Given the description of an element on the screen output the (x, y) to click on. 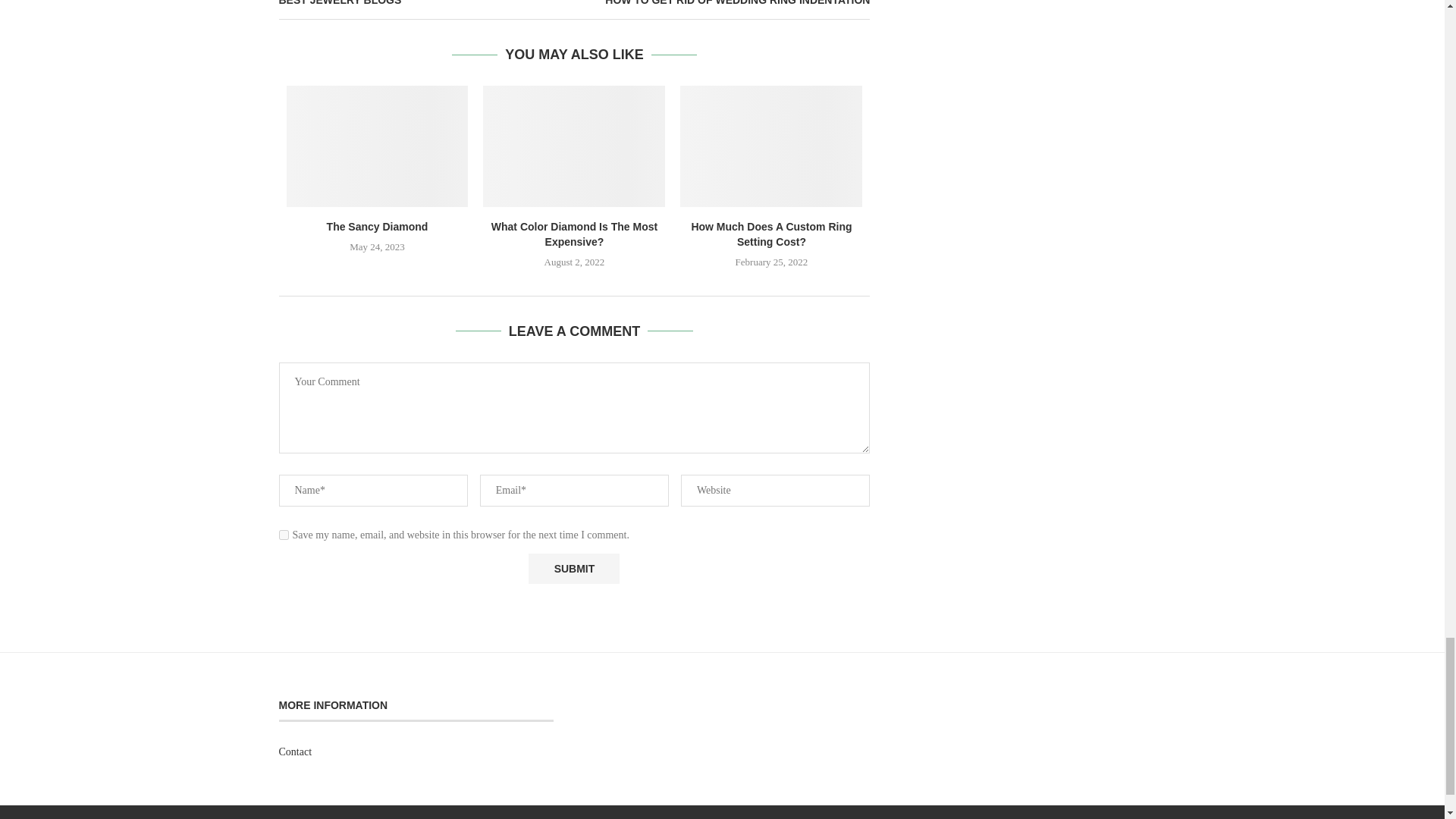
Submit (574, 568)
yes (283, 534)
